Given the description of an element on the screen output the (x, y) to click on. 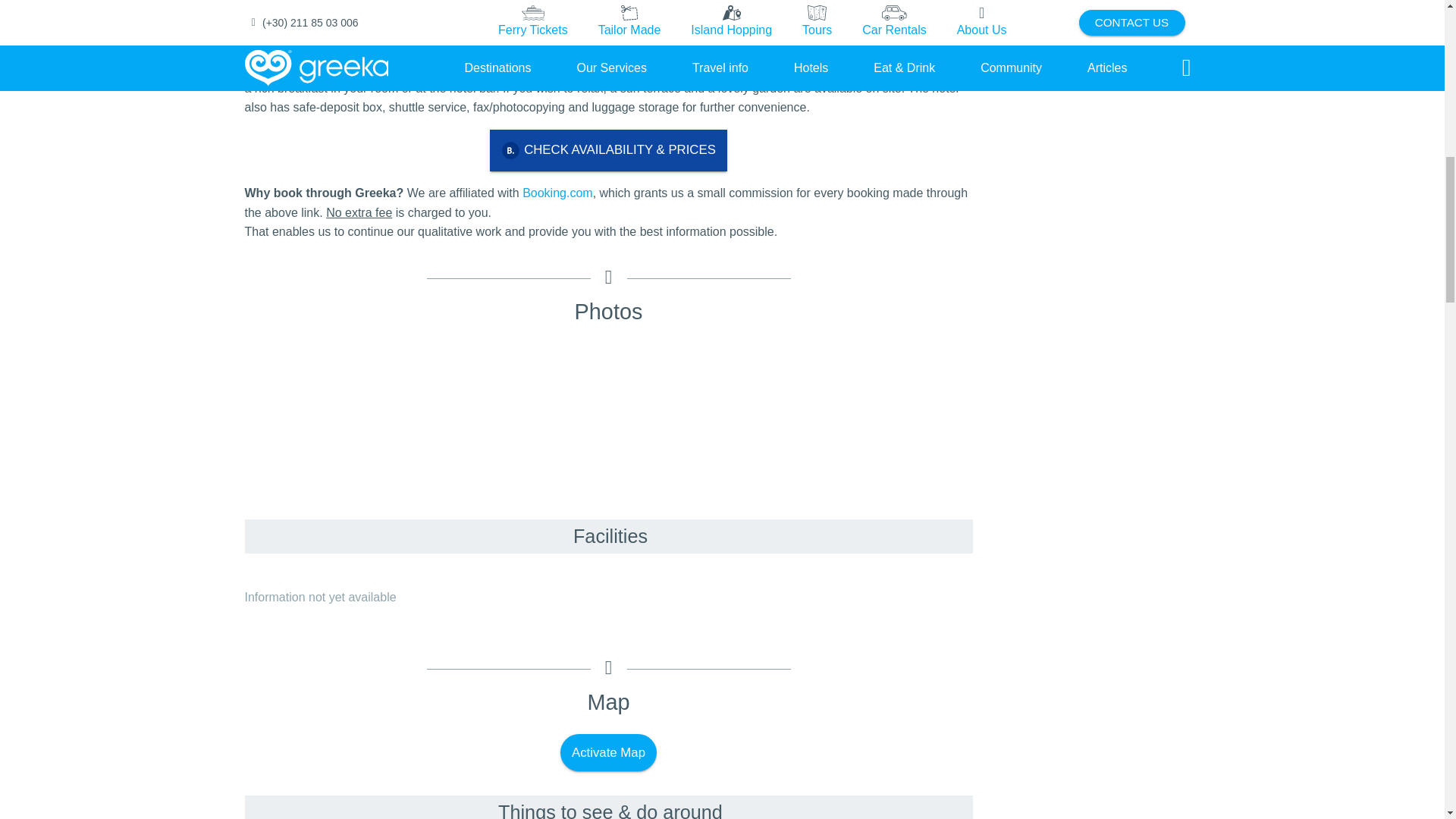
Activate Map (608, 752)
Book at Avra with Booking.com (607, 150)
Booking.com (557, 192)
